Given the description of an element on the screen output the (x, y) to click on. 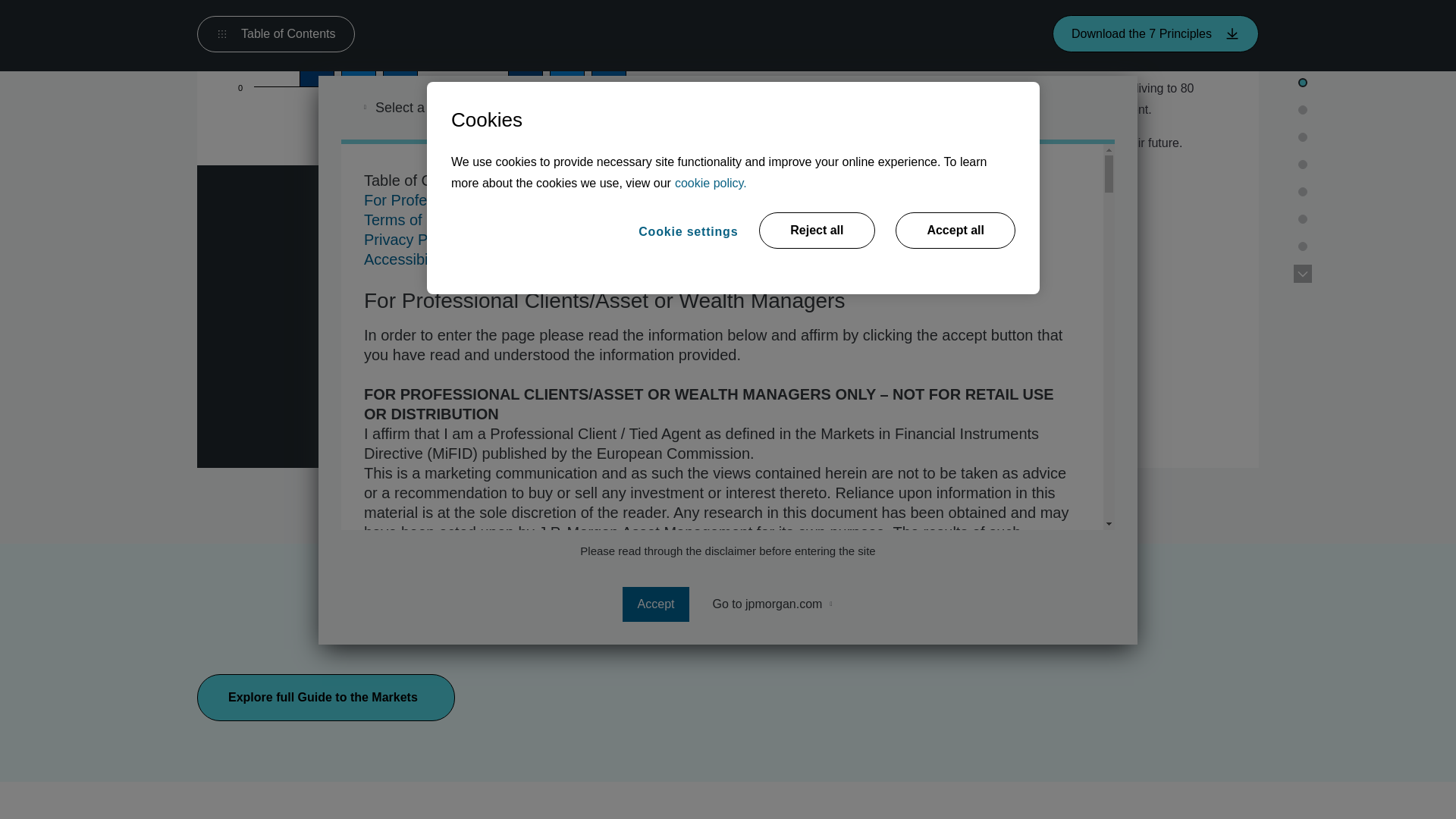
100 (450, 70)
